Given the description of an element on the screen output the (x, y) to click on. 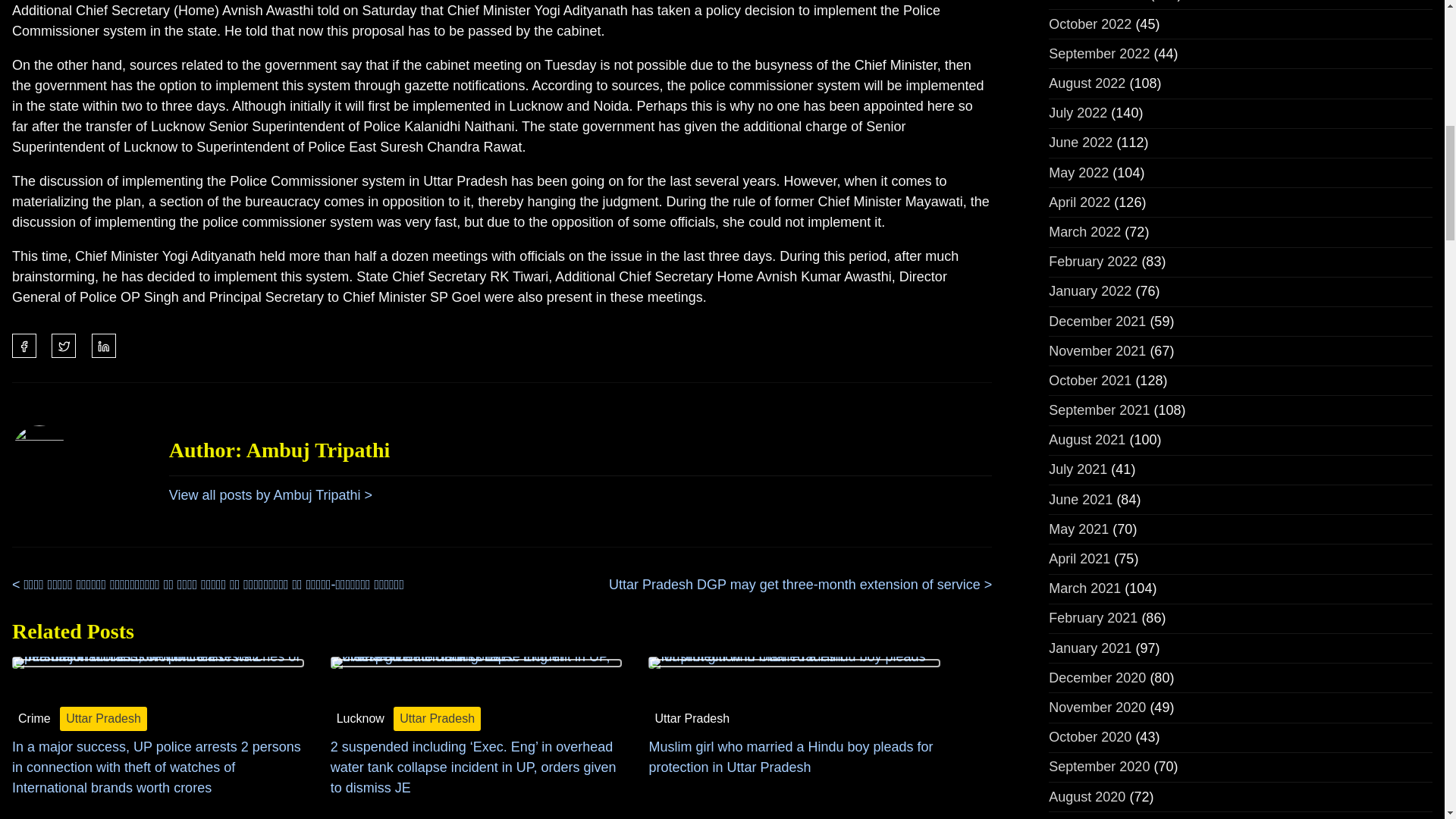
Share this post on Facebook (23, 345)
Share this post on Linkedin (103, 345)
Share this post on Twitter (62, 345)
